Given the description of an element on the screen output the (x, y) to click on. 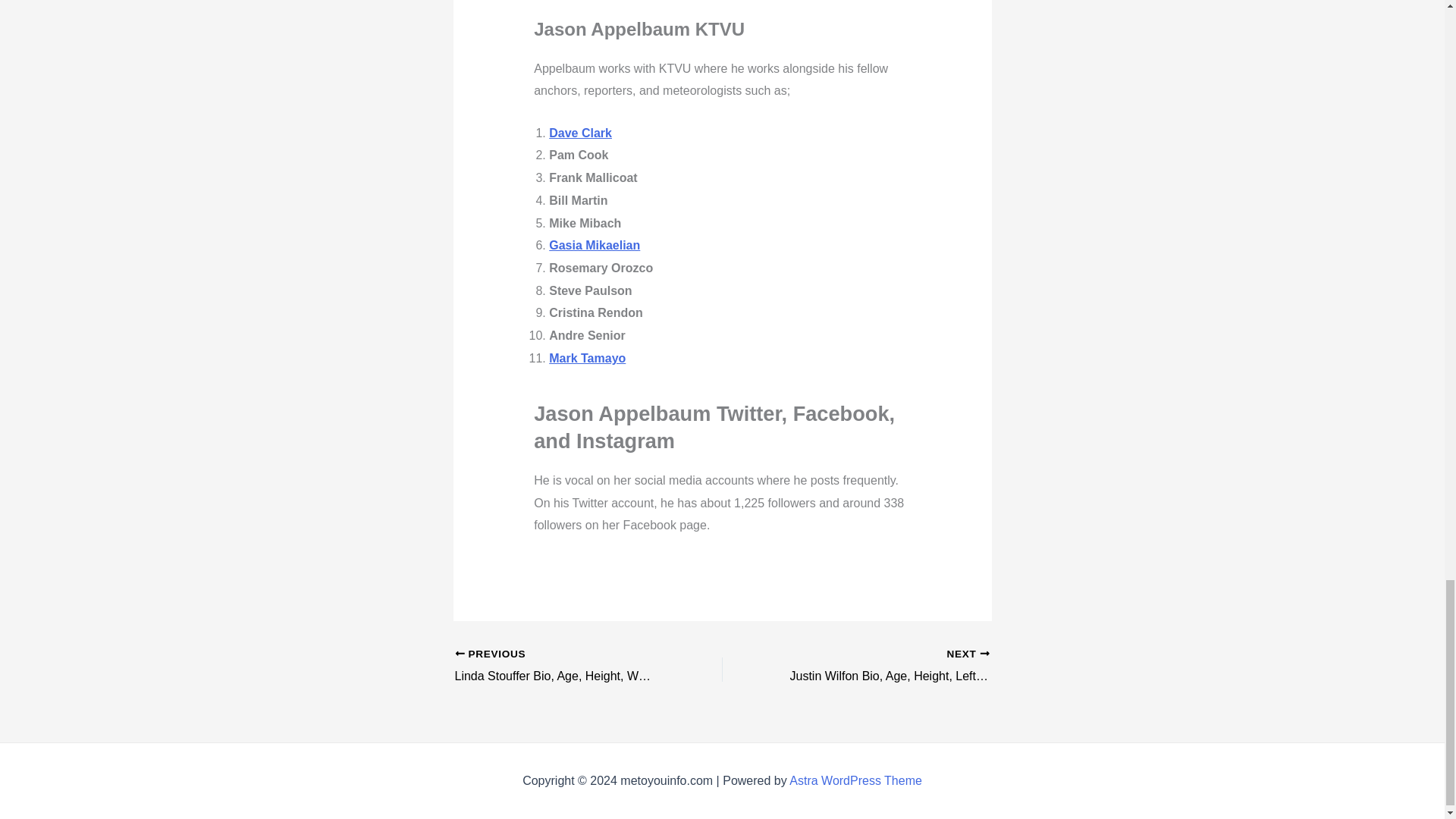
Dave Clark (579, 132)
Astra WordPress Theme (855, 780)
Mark Tamayo (587, 358)
Gasia Mikaelian (594, 245)
